Given the description of an element on the screen output the (x, y) to click on. 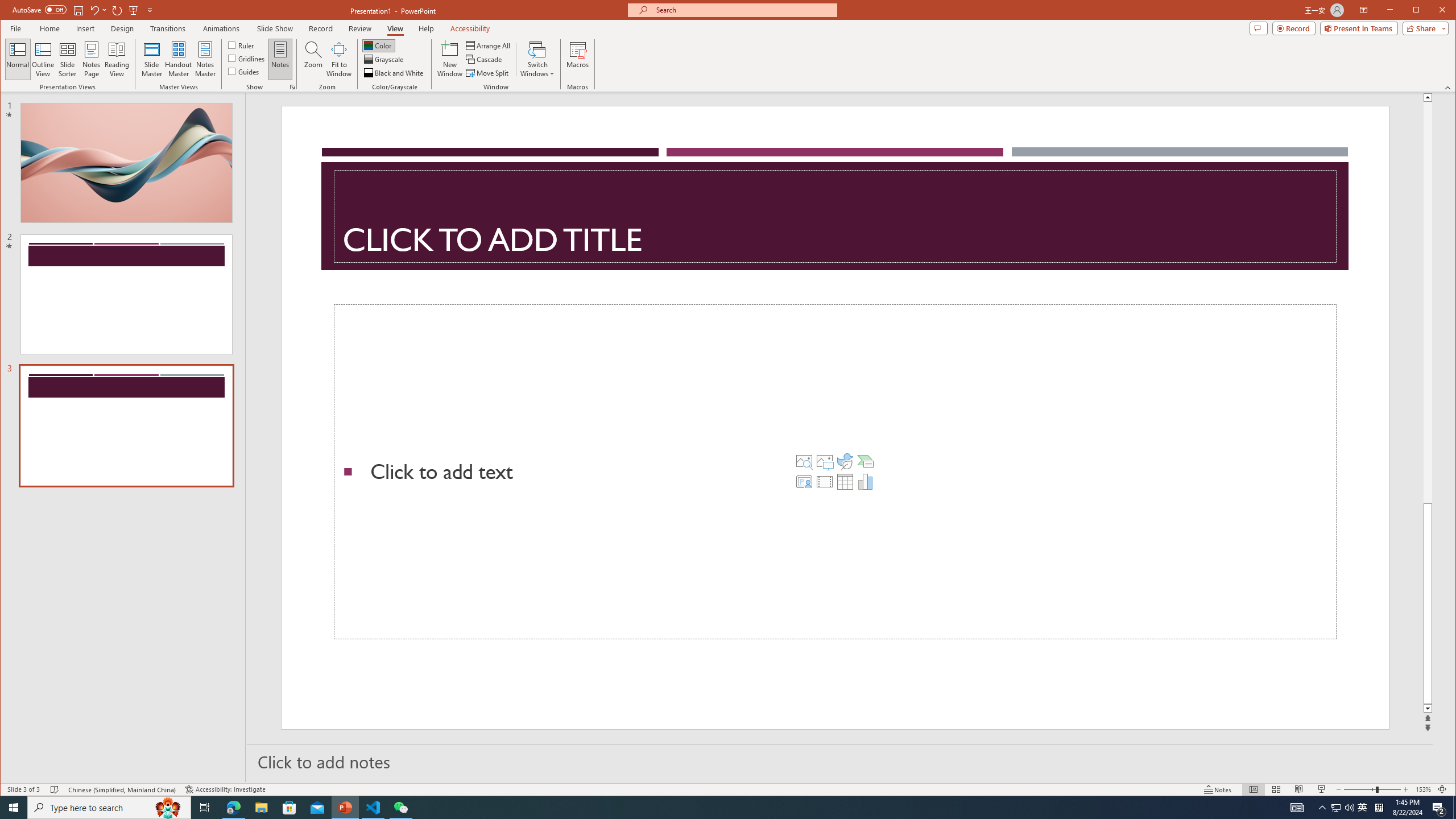
Outline View (42, 59)
Color (378, 45)
Notes (279, 59)
Ruler (241, 44)
